Given the description of an element on the screen output the (x, y) to click on. 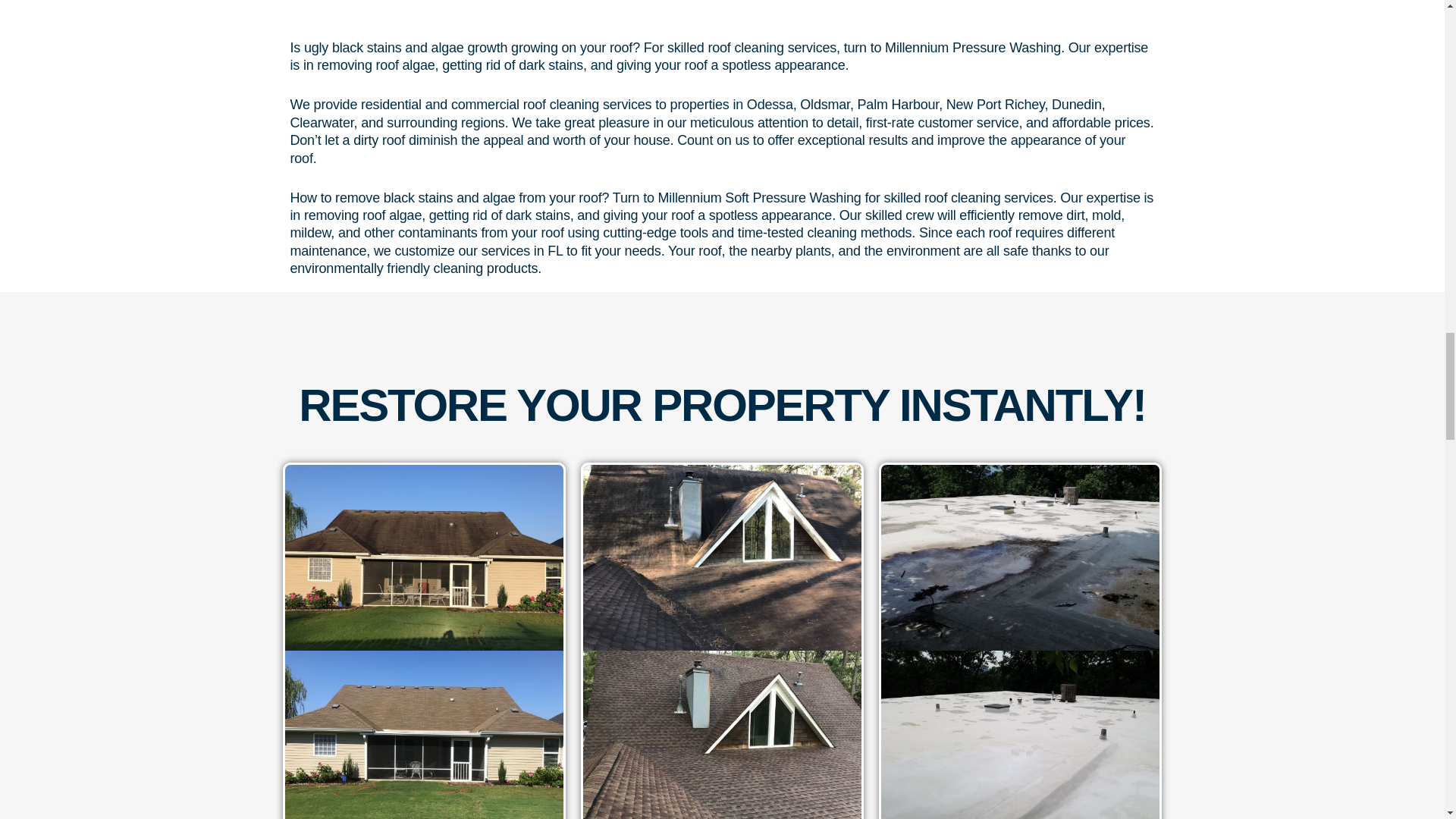
Roof Cleaning (1019, 734)
Roof Cleaning (424, 557)
Roof Cleaning (722, 557)
Roof Cleaning (1019, 557)
Roof Cleaning (424, 734)
Roof Cleaning (722, 734)
